Given the description of an element on the screen output the (x, y) to click on. 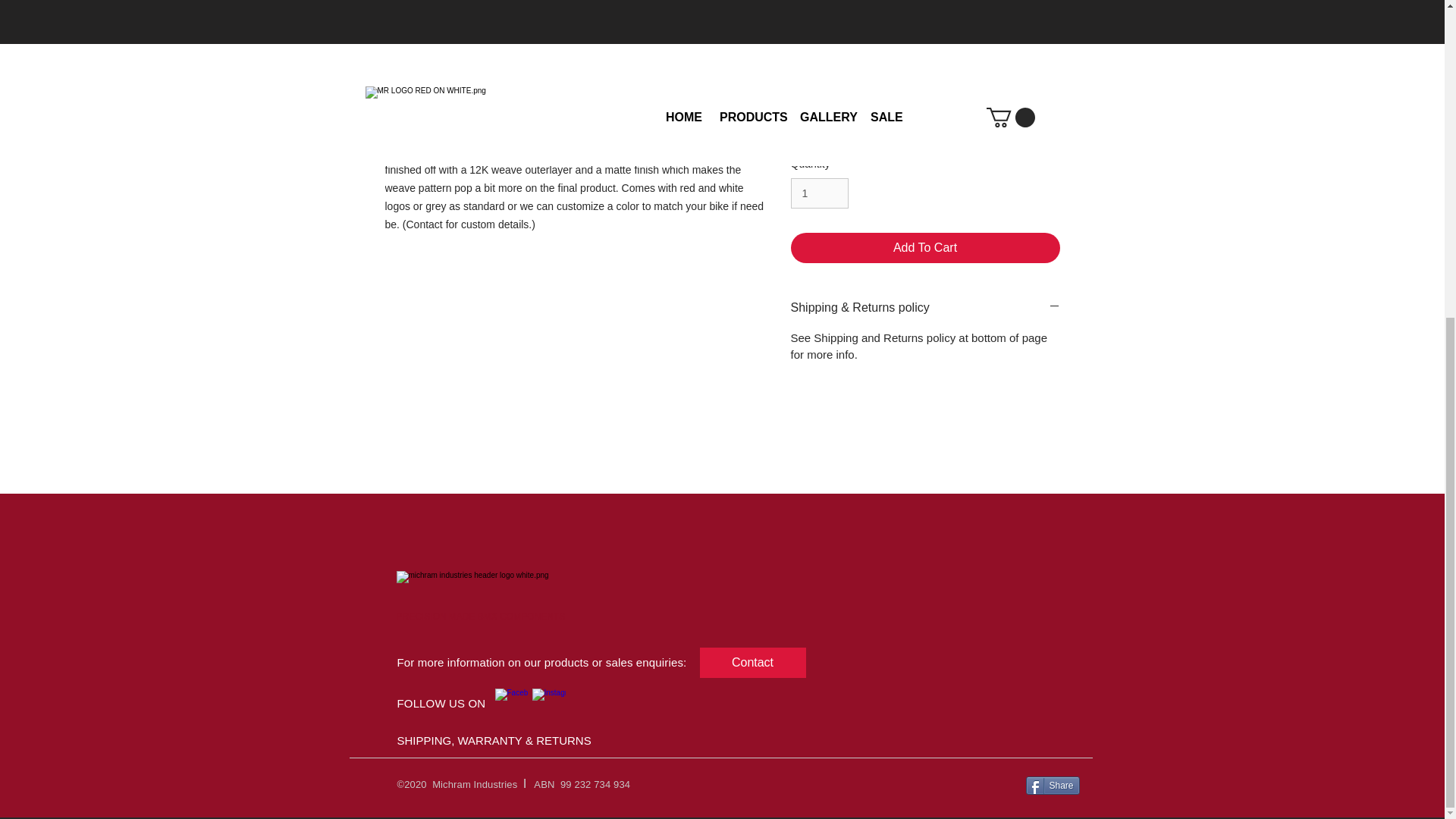
Contact (751, 662)
1 (818, 193)
Select (924, 126)
Share (1051, 785)
Matte (924, 60)
Select (924, 4)
SHIPPING, WARRANTY (459, 739)
Add To Cart (924, 247)
Share (1051, 785)
